Given the description of an element on the screen output the (x, y) to click on. 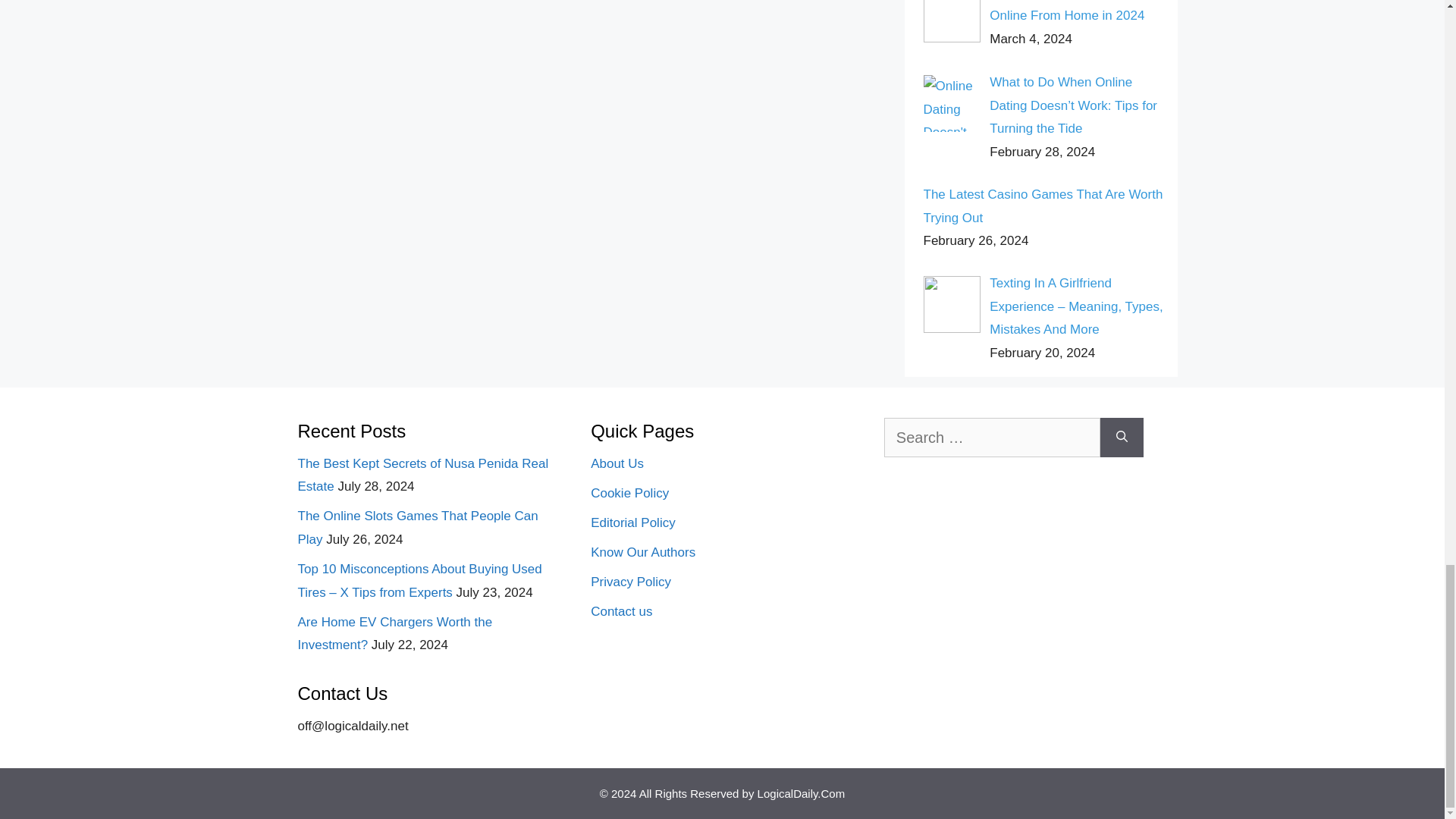
The Latest Casino Games That Are Worth Trying Out (1043, 206)
10 Fun Ways to Make Money Online From Home in 2024 (1073, 11)
Search for: (991, 437)
